Given the description of an element on the screen output the (x, y) to click on. 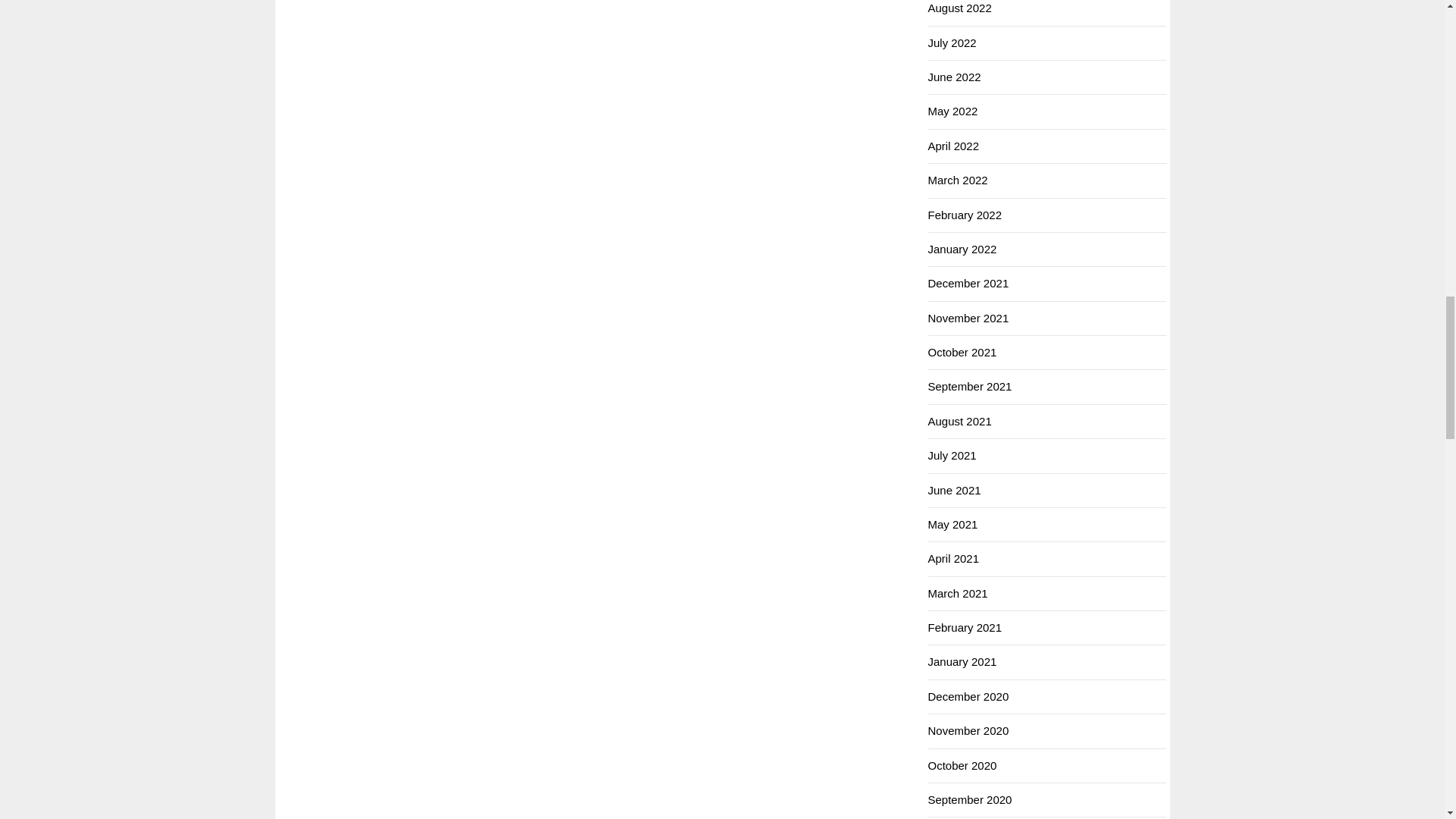
May 2022 (953, 110)
March 2022 (958, 179)
July 2022 (952, 42)
February 2022 (965, 214)
June 2022 (954, 76)
August 2022 (959, 7)
April 2022 (953, 145)
